Given the description of an element on the screen output the (x, y) to click on. 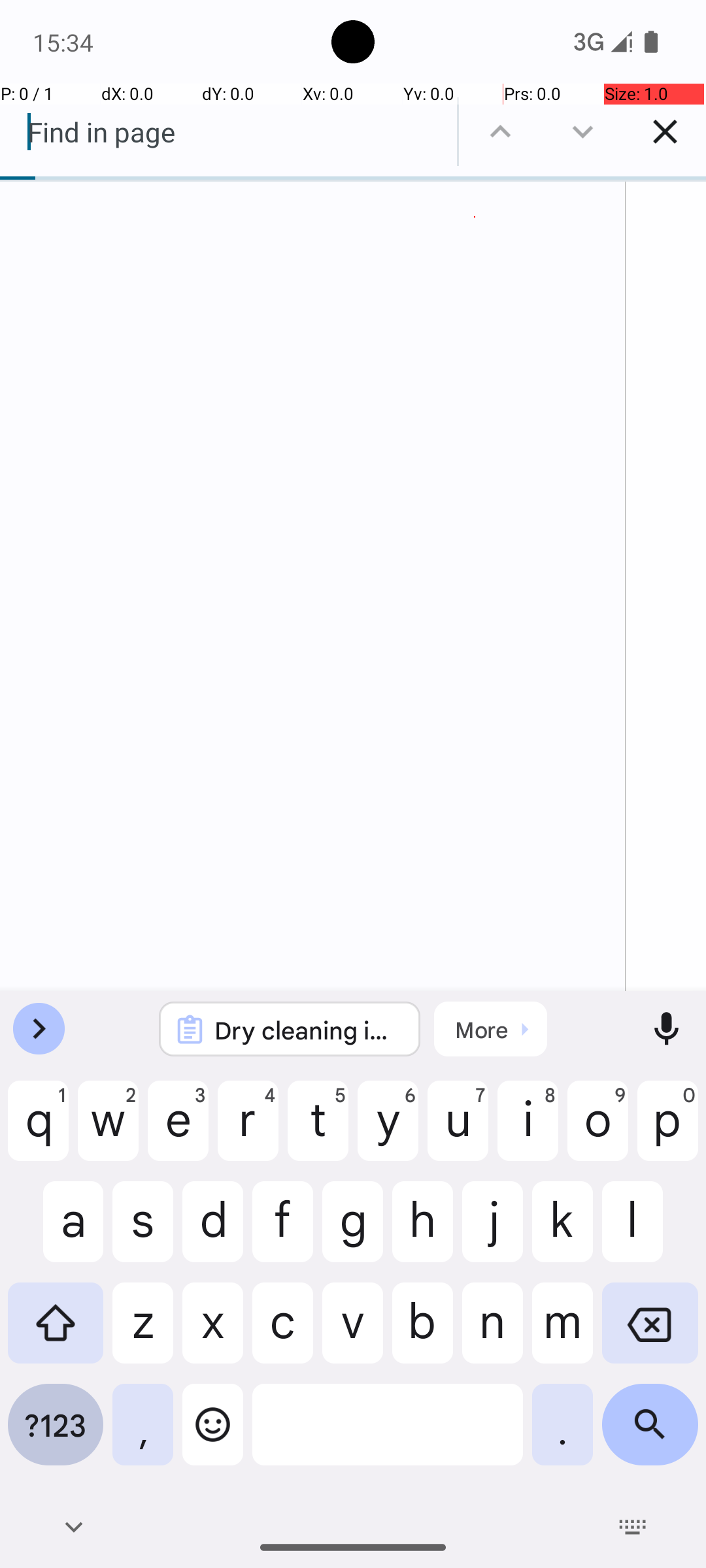
Find in page Element type: android.widget.EditText (228, 131)
Previous Element type: android.widget.ImageButton (499, 131)
